Given the description of an element on the screen output the (x, y) to click on. 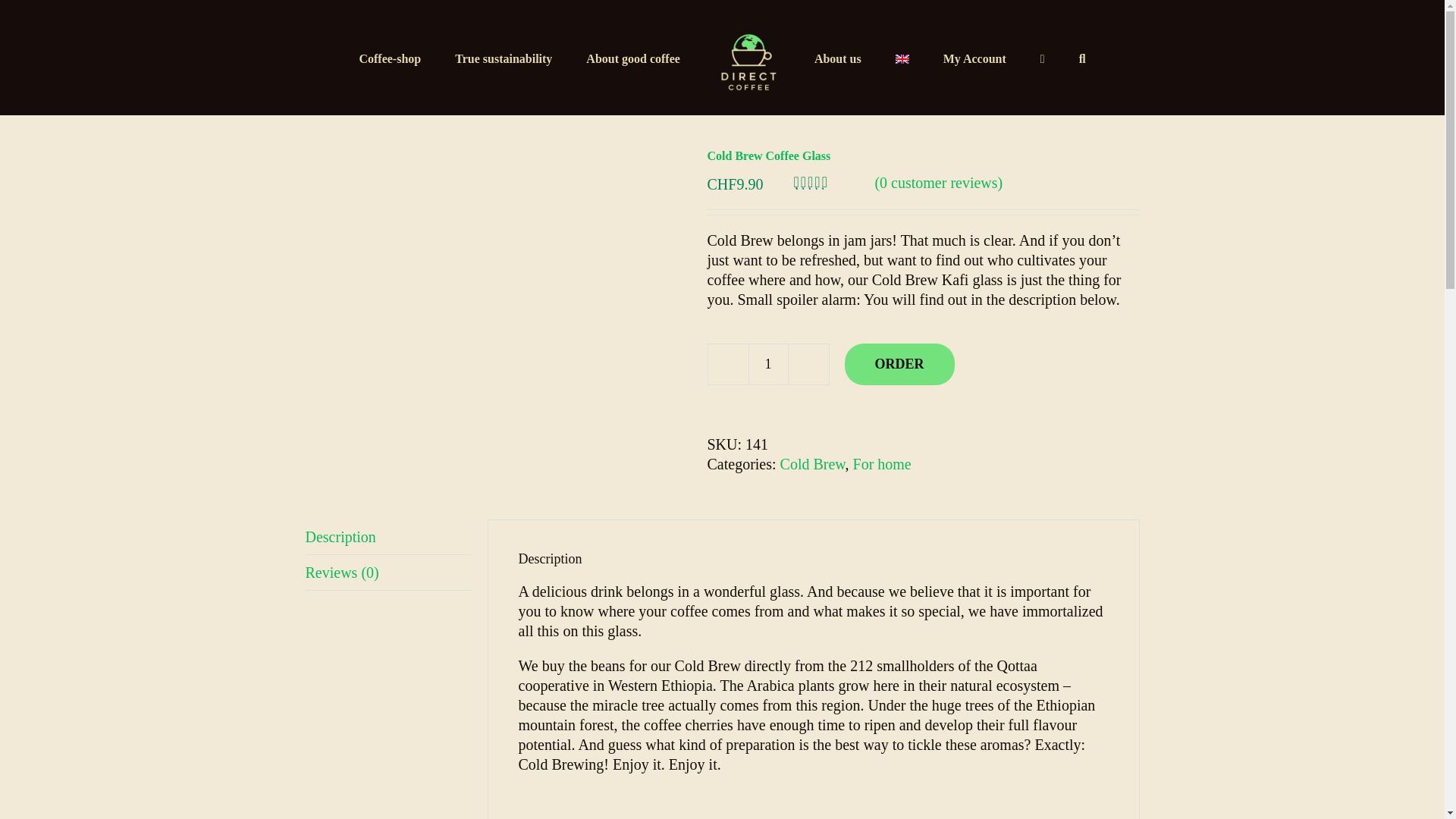
1 (767, 363)
Echte Nachhaltigkeit (502, 57)
Coffee-shop (389, 57)
Log In (1037, 202)
About good coffee (632, 57)
My Account (974, 57)
True sustainability (502, 57)
